Given the description of an element on the screen output the (x, y) to click on. 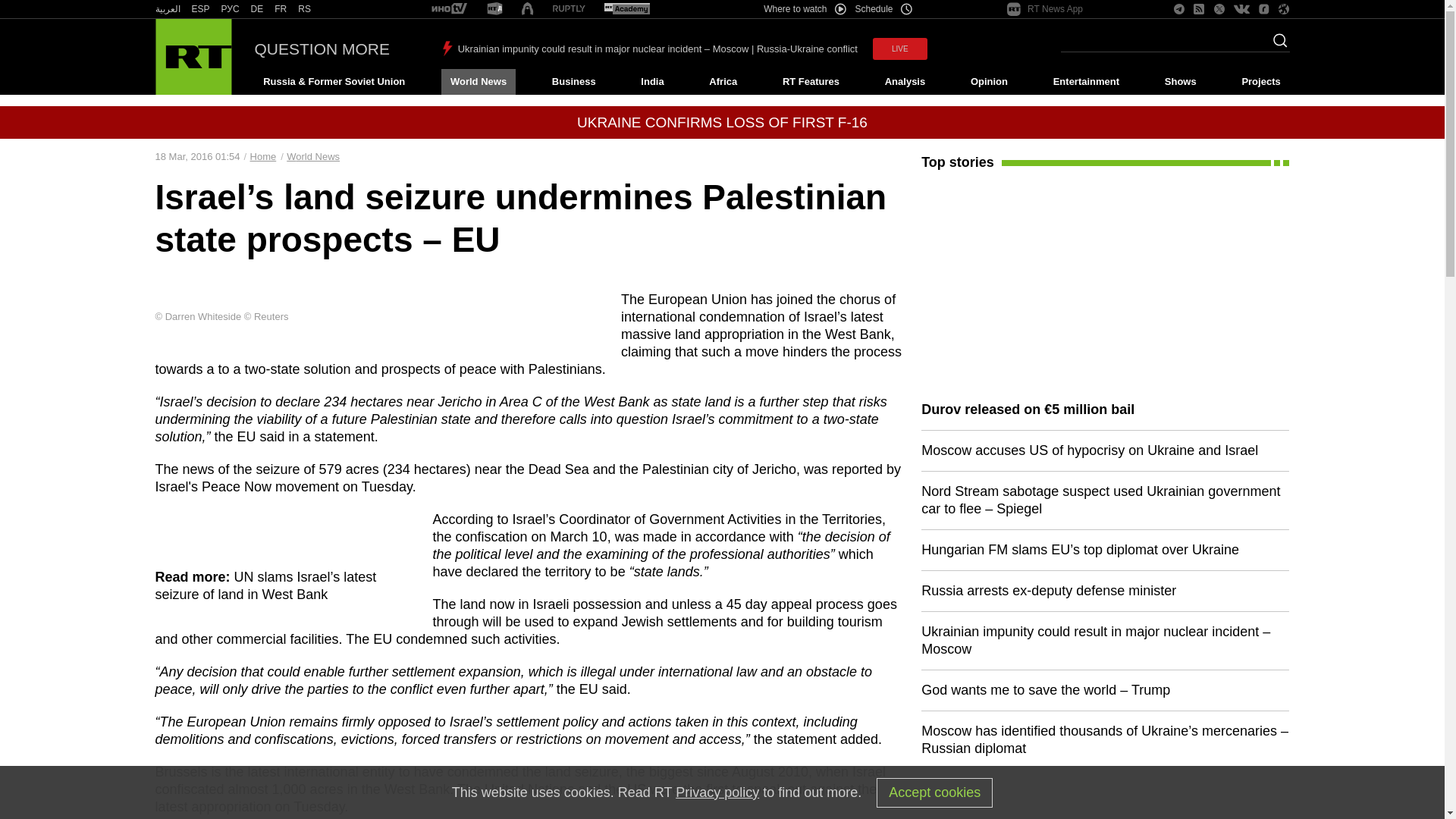
Schedule (884, 9)
RT News App (1045, 9)
RT Features (810, 81)
Shows (1180, 81)
RT  (230, 9)
Africa (722, 81)
RT  (569, 8)
RT  (199, 9)
RT  (166, 9)
Analysis (905, 81)
